Given the description of an element on the screen output the (x, y) to click on. 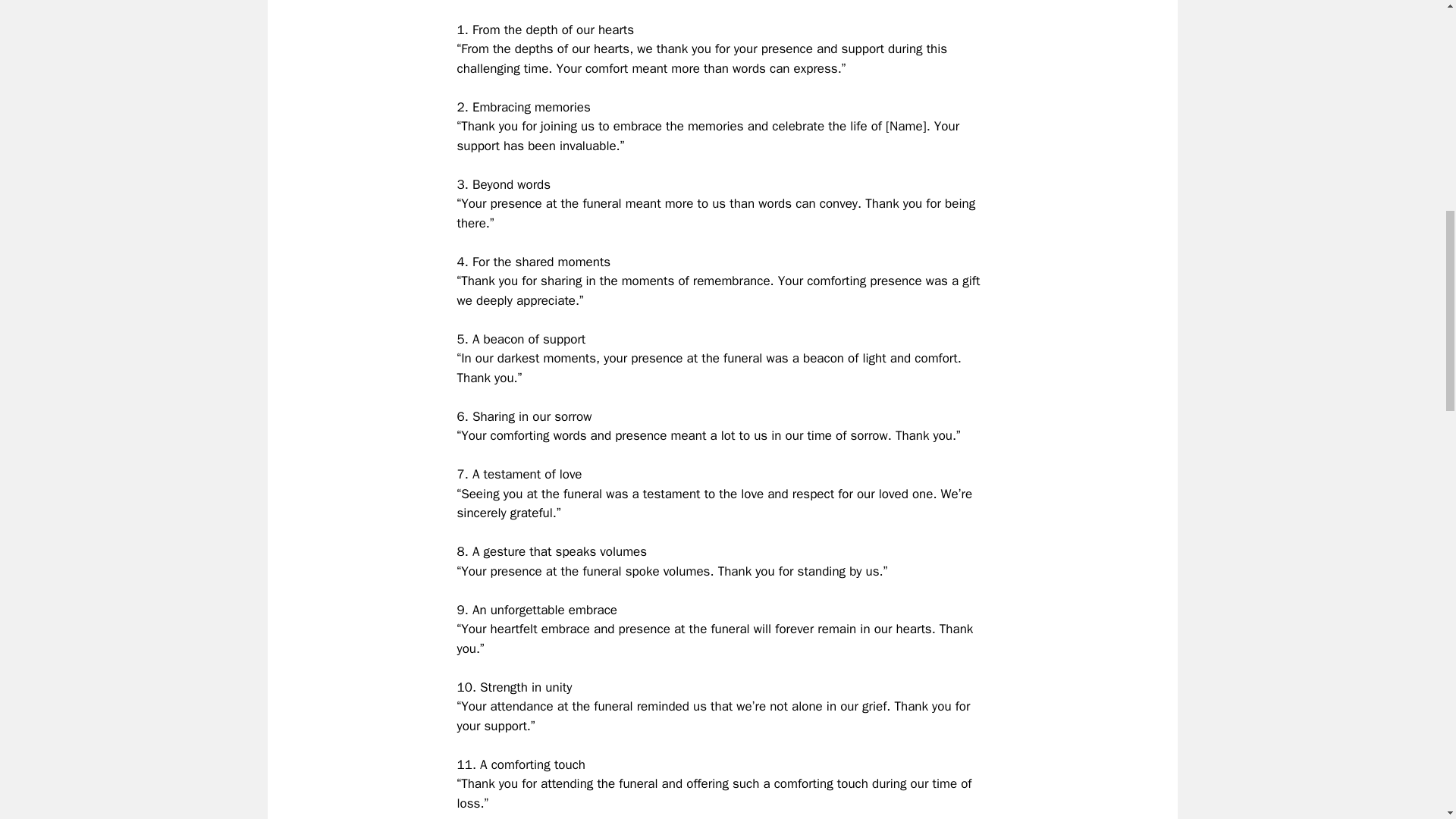
Scroll back to top (1406, 720)
